Given the description of an element on the screen output the (x, y) to click on. 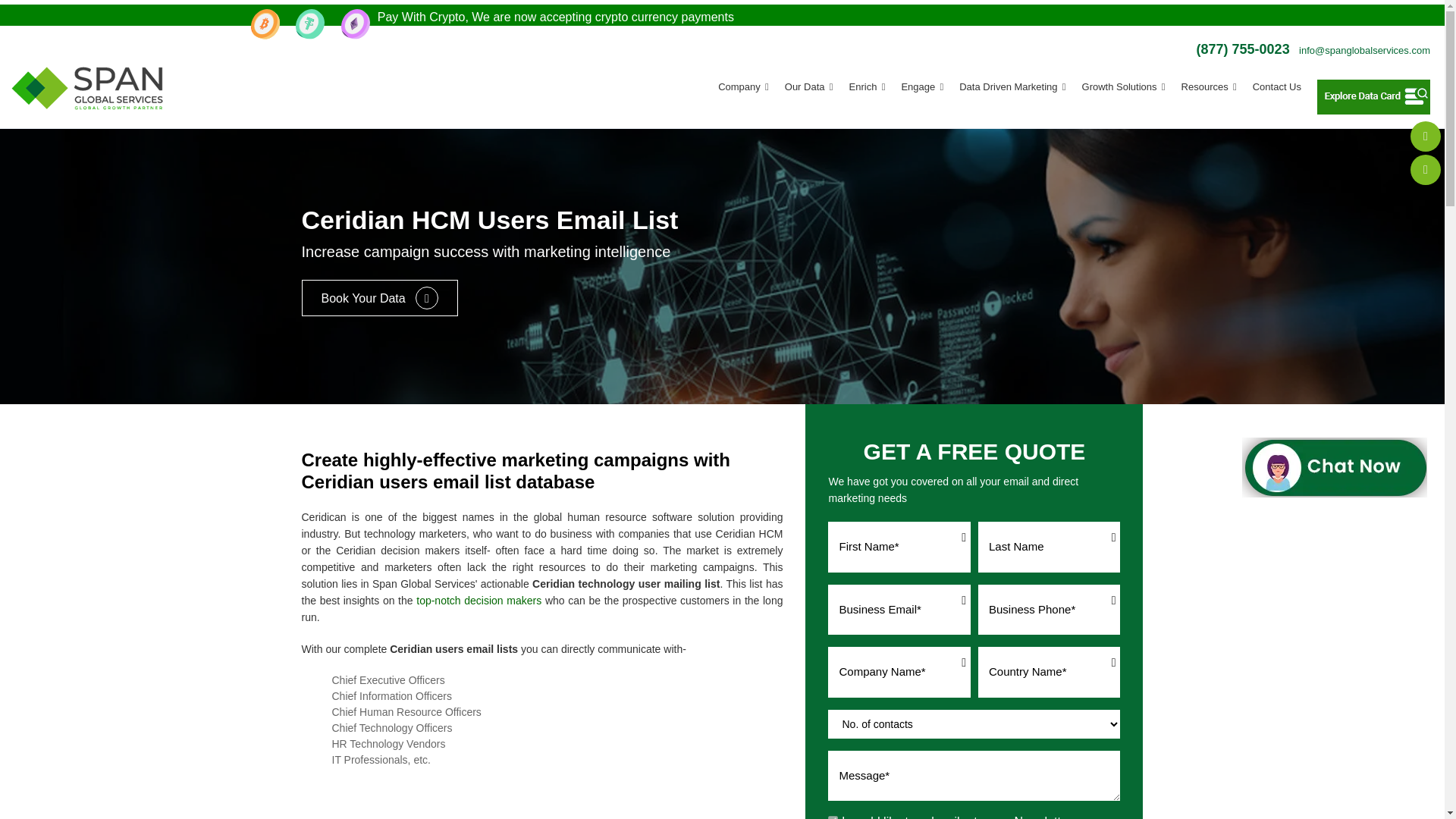
Span Global Services (87, 87)
top-notch decision makers (478, 600)
newslettersubscribe (833, 817)
Our Data (806, 87)
Explore Data Card (1373, 96)
Company (741, 87)
Contact Us (1275, 87)
